Given the description of an element on the screen output the (x, y) to click on. 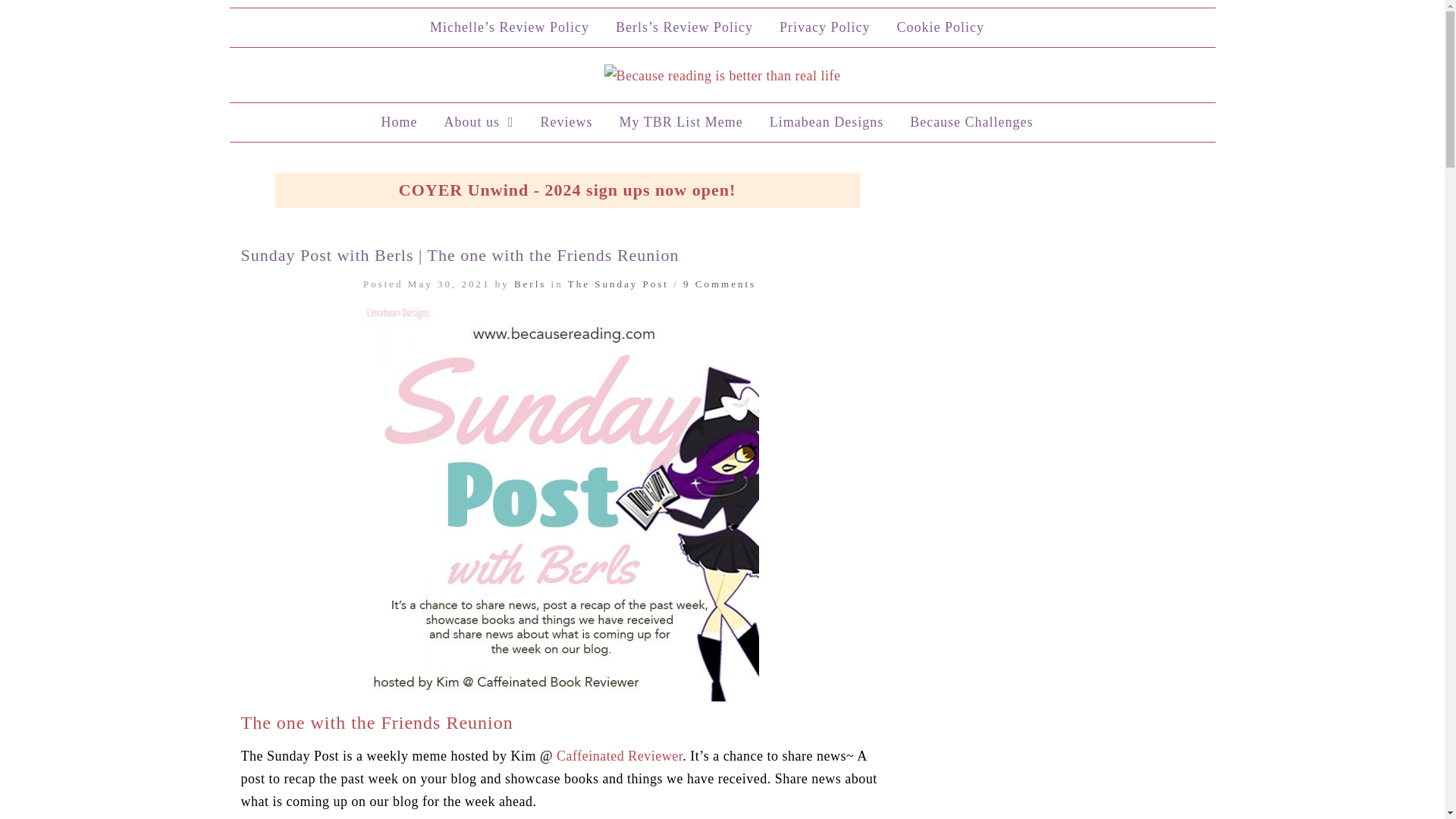
My TBR List Meme (680, 122)
About us   (478, 122)
Privacy Policy (825, 27)
Reviews (566, 122)
View all posts in The Sunday Post (617, 283)
Cookie Policy (940, 27)
Limabean Designs (826, 122)
Caffeinated Reviewer (619, 755)
Home (398, 122)
Berls (529, 283)
